Given the description of an element on the screen output the (x, y) to click on. 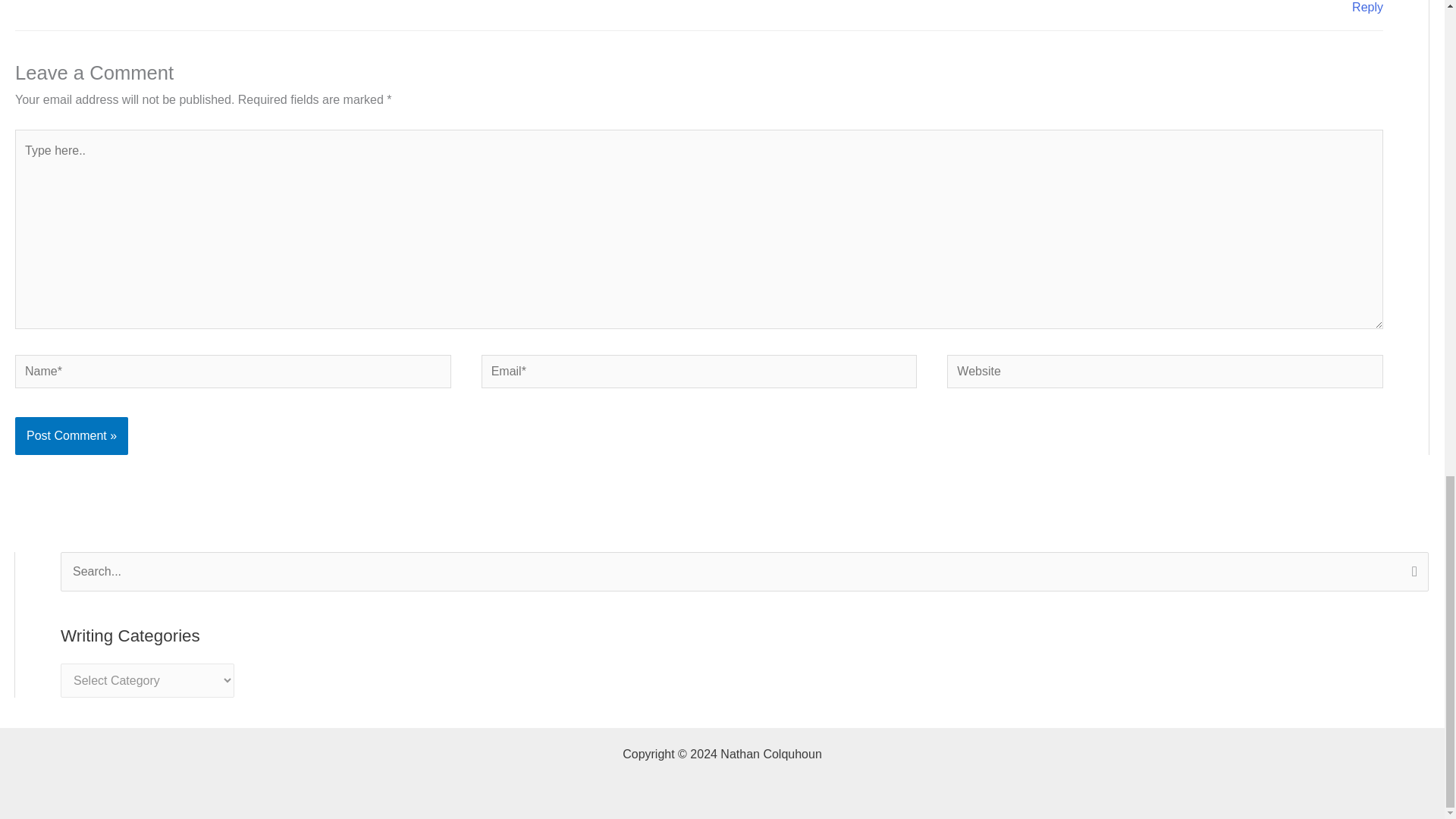
Search (1411, 573)
Reply (1367, 6)
Search (1411, 573)
Search (1411, 573)
